Given the description of an element on the screen output the (x, y) to click on. 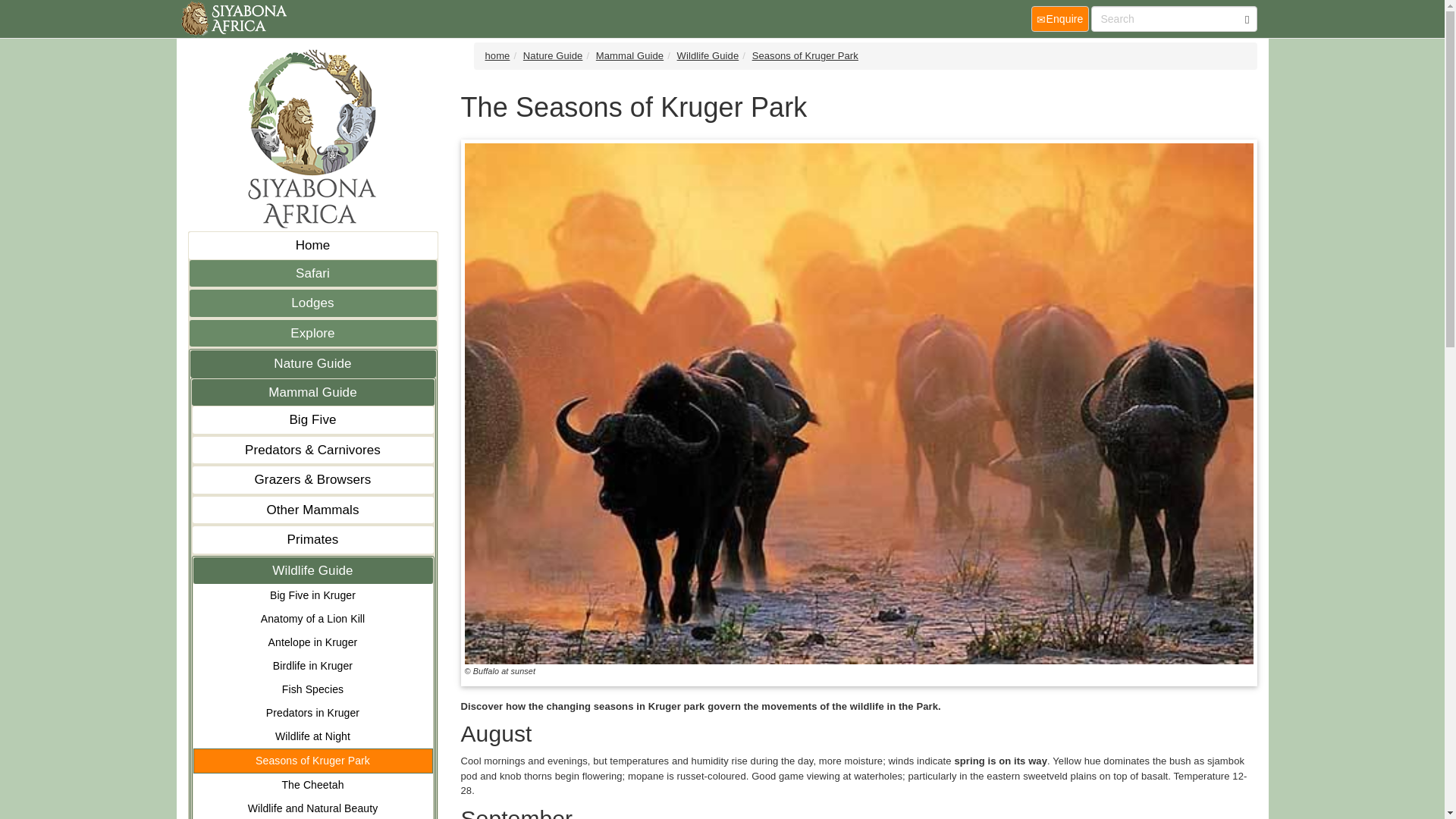
Big Five (312, 420)
Wildlife Guide (312, 569)
The Cheetah (312, 784)
Explore (312, 333)
Wildlife and Natural Beauty (312, 807)
Predators in Kruger (312, 712)
Fish Species (312, 689)
Lodges (312, 302)
Antelope in Kruger (312, 642)
Big Five in Kruger (312, 595)
Wildlife at Night (312, 736)
Primates (312, 539)
home (232, 18)
Seasons of Kruger Park (312, 761)
Mammal Guide (311, 392)
